Given the description of an element on the screen output the (x, y) to click on. 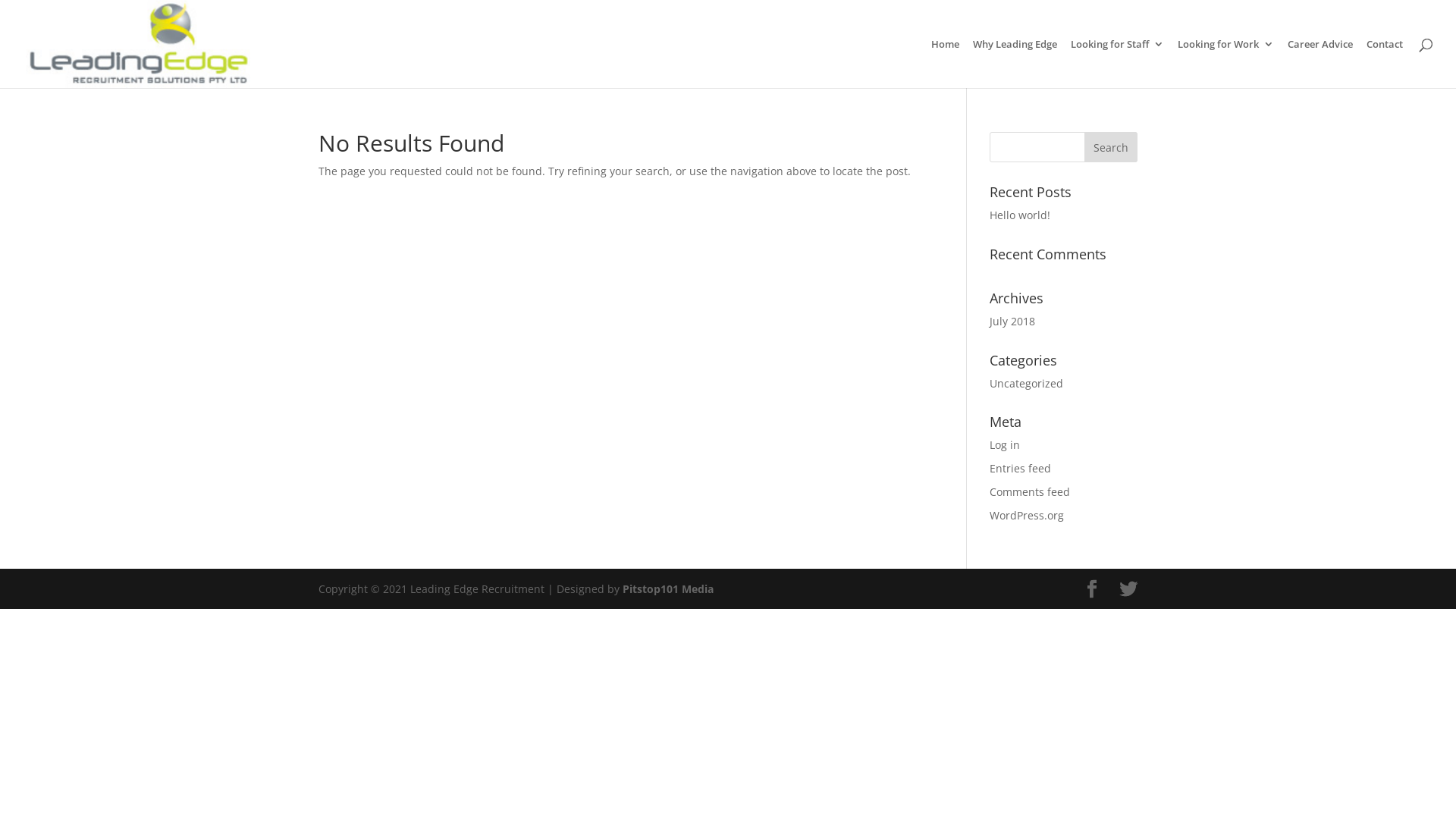
Why Leading Edge Element type: text (1014, 62)
Comments feed Element type: text (1029, 491)
WordPress.org Element type: text (1026, 515)
Home Element type: text (945, 62)
Search Element type: text (1110, 146)
Pitstop101 Media Element type: text (667, 588)
Entries feed Element type: text (1020, 468)
Career Advice Element type: text (1319, 62)
Looking for Staff Element type: text (1117, 62)
Hello world! Element type: text (1019, 214)
Log in Element type: text (1004, 444)
Uncategorized Element type: text (1026, 383)
Looking for Work Element type: text (1225, 62)
Contact Element type: text (1384, 62)
July 2018 Element type: text (1012, 320)
